Given the description of an element on the screen output the (x, y) to click on. 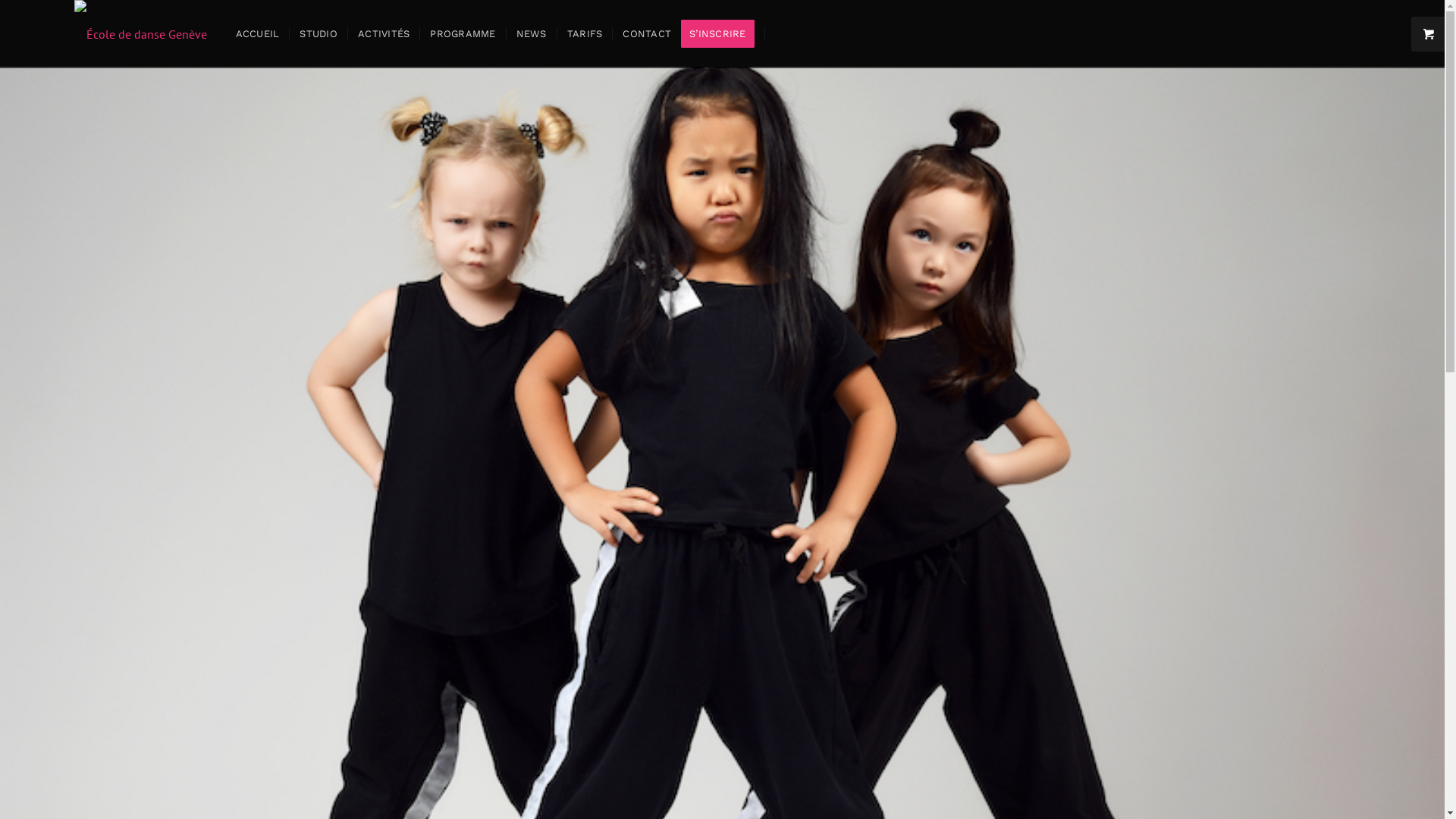
TARIFS Element type: text (584, 34)
CONTACT Element type: text (645, 34)
NEWS Element type: text (530, 34)
PROGRAMME Element type: text (462, 34)
ACCUEIL Element type: text (257, 34)
STUDIO Element type: text (317, 34)
